Given the description of an element on the screen output the (x, y) to click on. 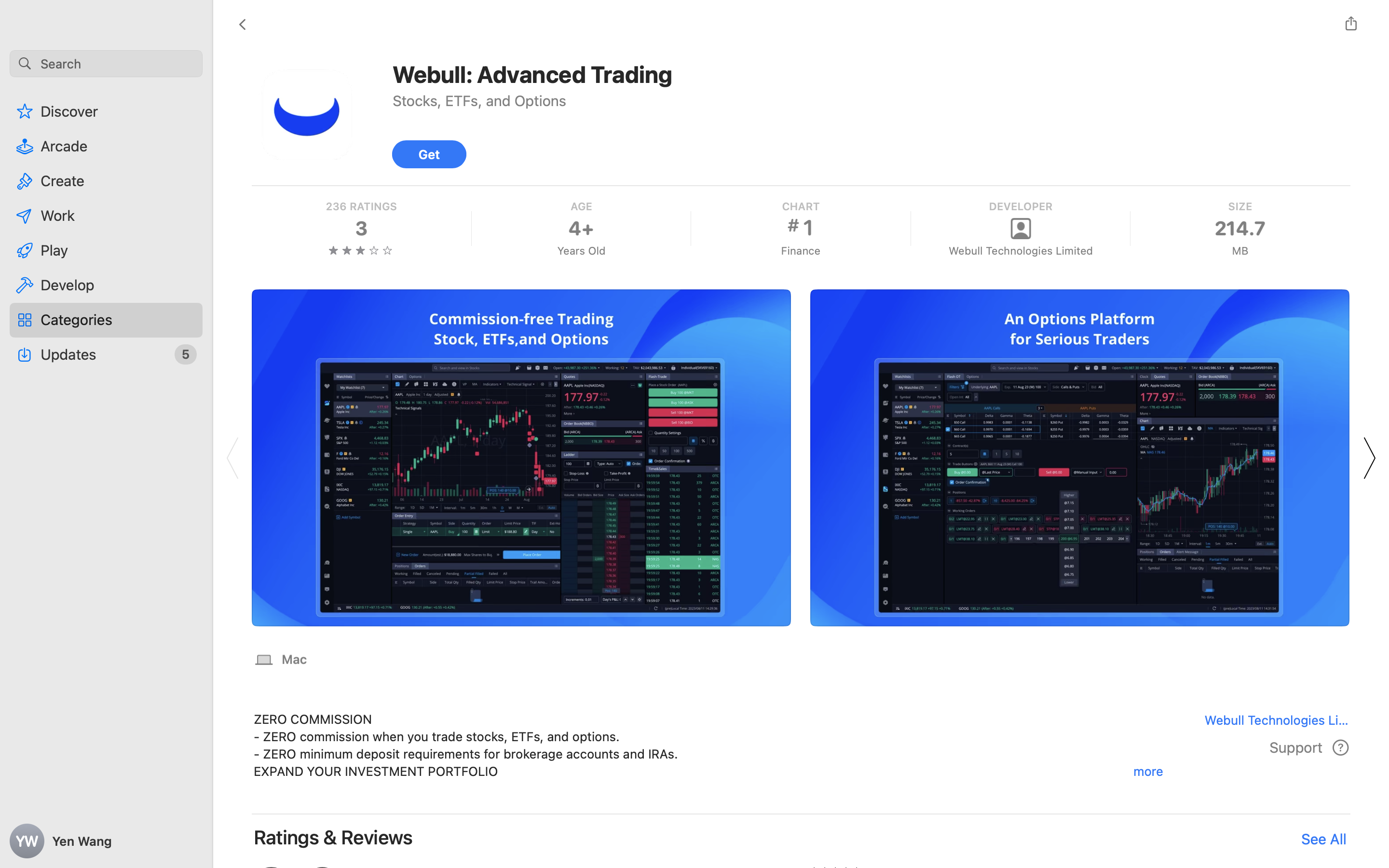
three stars Element type: AXStaticText (361, 249)
Years Old Element type: AXStaticText (580, 250)
Finance Element type: AXStaticText (799, 250)
DEVELOPER Element type: AXStaticText (1019, 206)
214.7 Element type: AXStaticText (1239, 228)
